Given the description of an element on the screen output the (x, y) to click on. 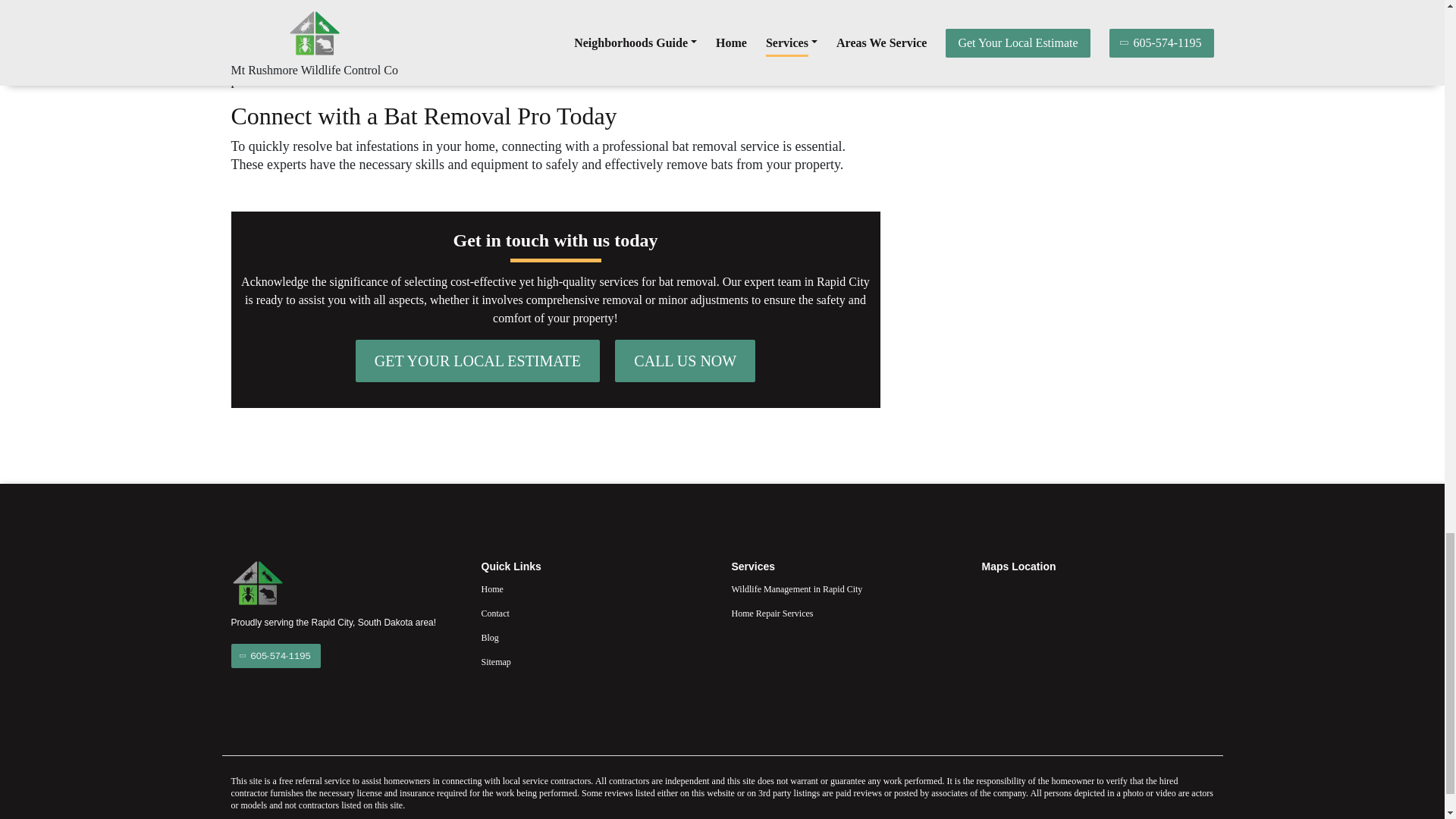
CALL US NOW (684, 360)
GET YOUR LOCAL ESTIMATE (477, 360)
